Given the description of an element on the screen output the (x, y) to click on. 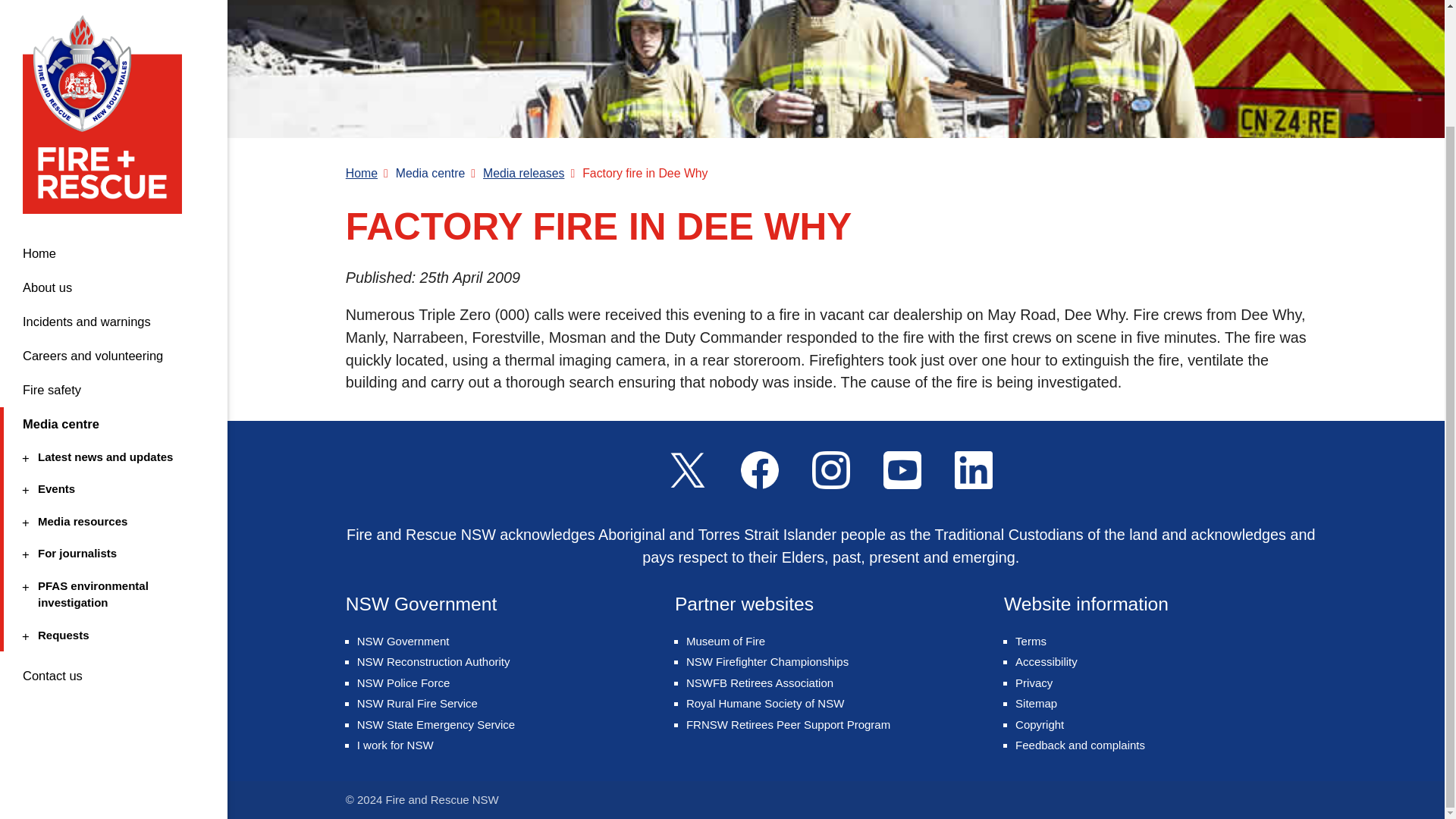
Latest news and updates (111, 318)
Home (113, 114)
Events (111, 350)
Fire and Rescue NSW (107, 37)
For journalists (111, 415)
Media resources (111, 383)
